Given the description of an element on the screen output the (x, y) to click on. 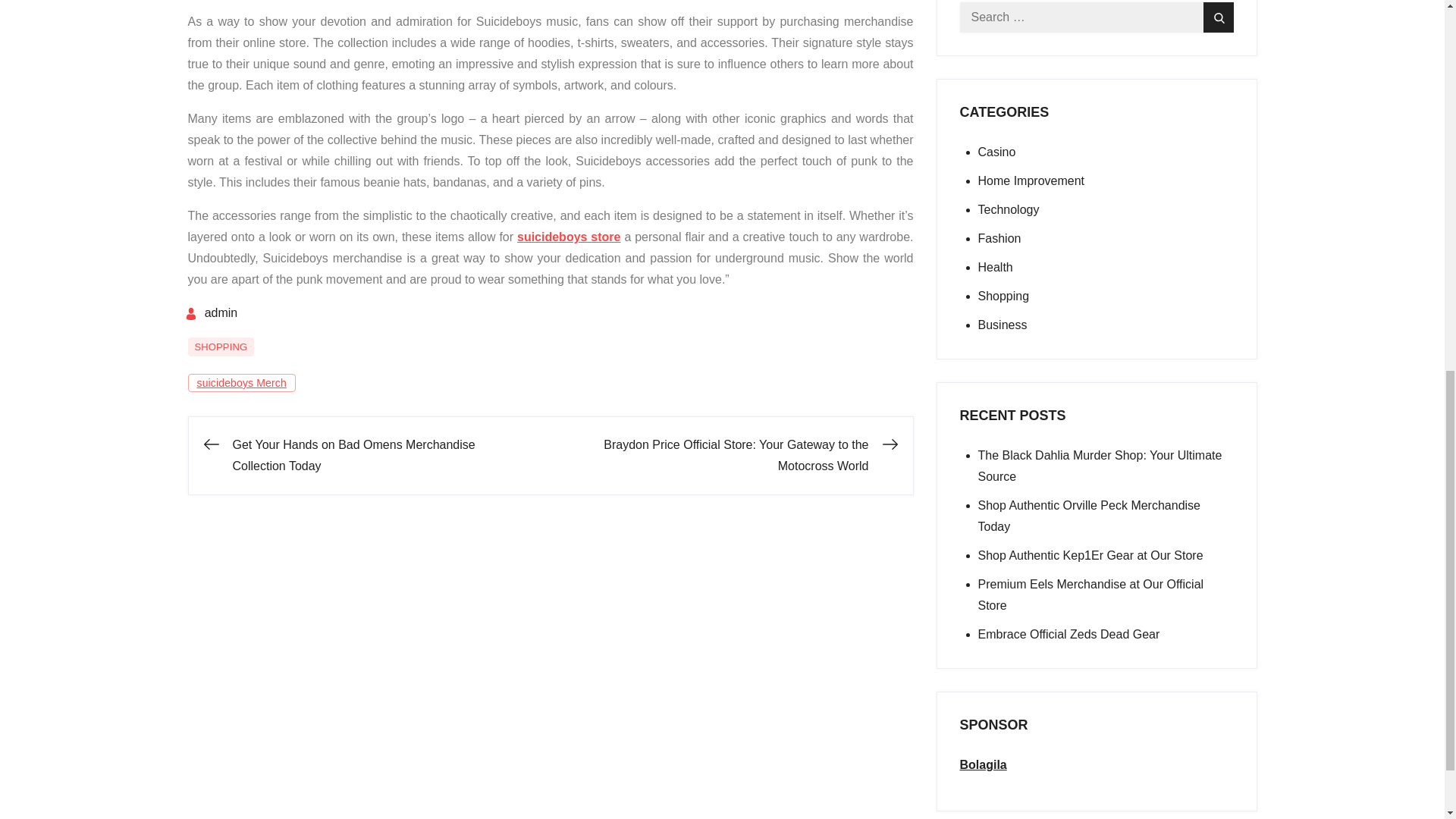
Bolagila (983, 764)
Shop Authentic Kep1Er Gear at Our Store (1091, 554)
Technology (1008, 209)
Embrace Official Zeds Dead Gear (1069, 634)
suicideboys Merch (241, 382)
suicideboys store (568, 236)
Shop Authentic Orville Peck Merchandise Today (1088, 515)
admin (211, 312)
Casino (997, 151)
Home Improvement (1031, 180)
Shopping (1003, 295)
Premium Eels Merchandise at Our Official Store (1091, 594)
Health (995, 267)
Business (1002, 324)
SHOPPING (220, 347)
